Given the description of an element on the screen output the (x, y) to click on. 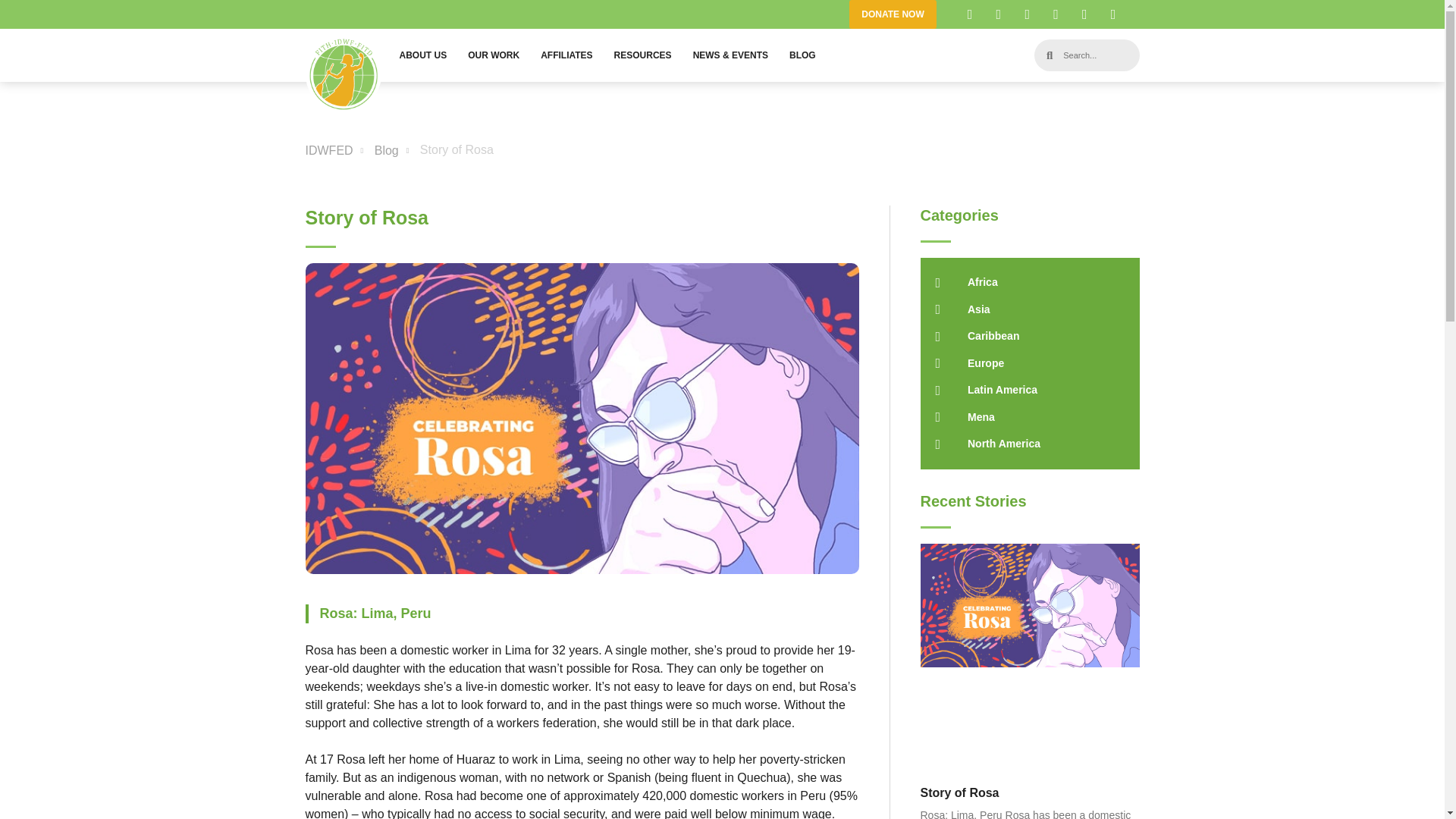
BLOG (802, 54)
OUR WORK (493, 54)
AFFILIATES (565, 54)
DONATE NOW (892, 14)
RESOURCES (643, 54)
ABOUT US (422, 54)
